Given the description of an element on the screen output the (x, y) to click on. 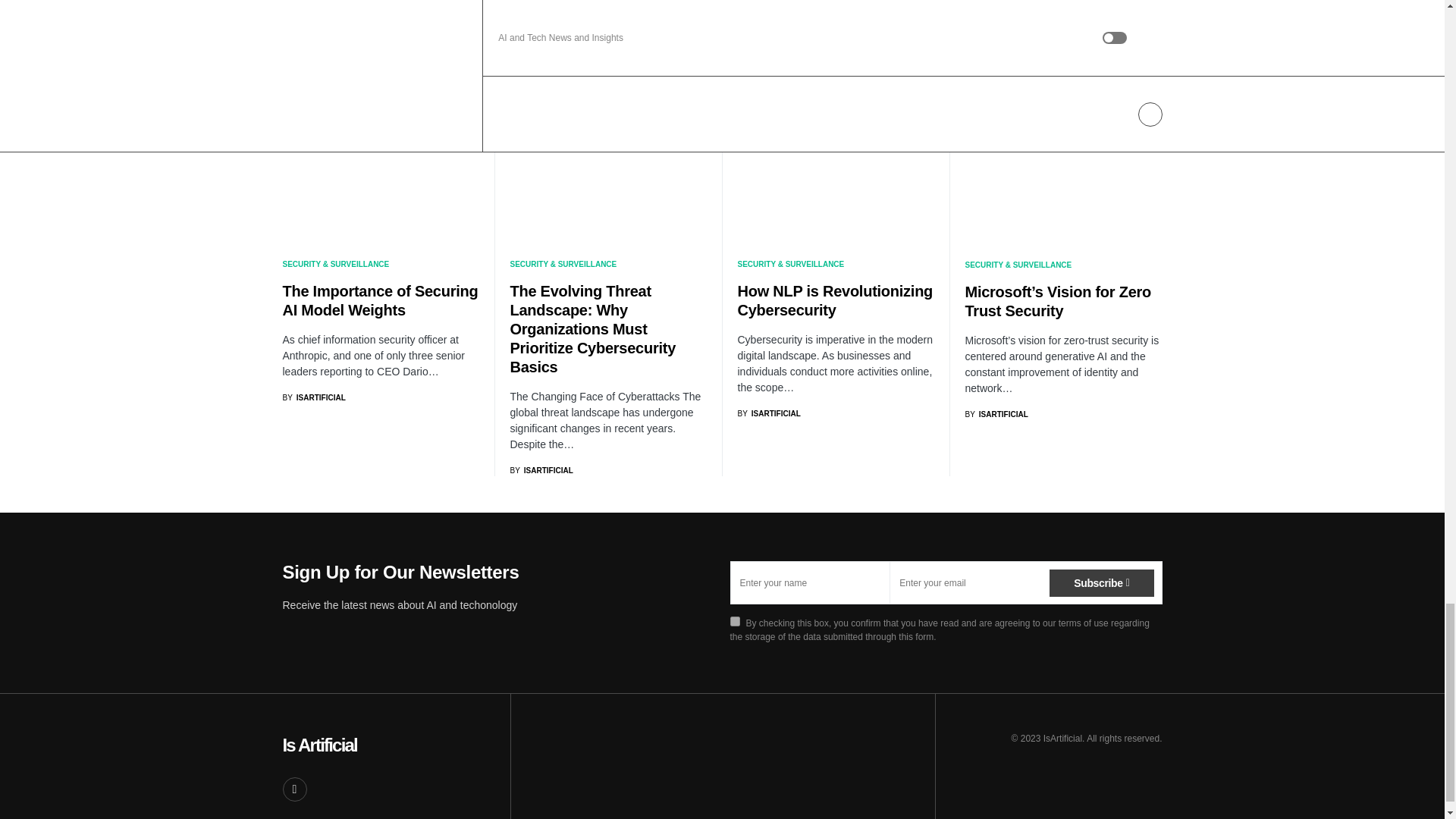
on (734, 621)
View all posts by IsArtificial (540, 470)
View all posts by IsArtificial (995, 414)
View all posts by IsArtificial (313, 397)
View all posts by IsArtificial (767, 413)
